Given the description of an element on the screen output the (x, y) to click on. 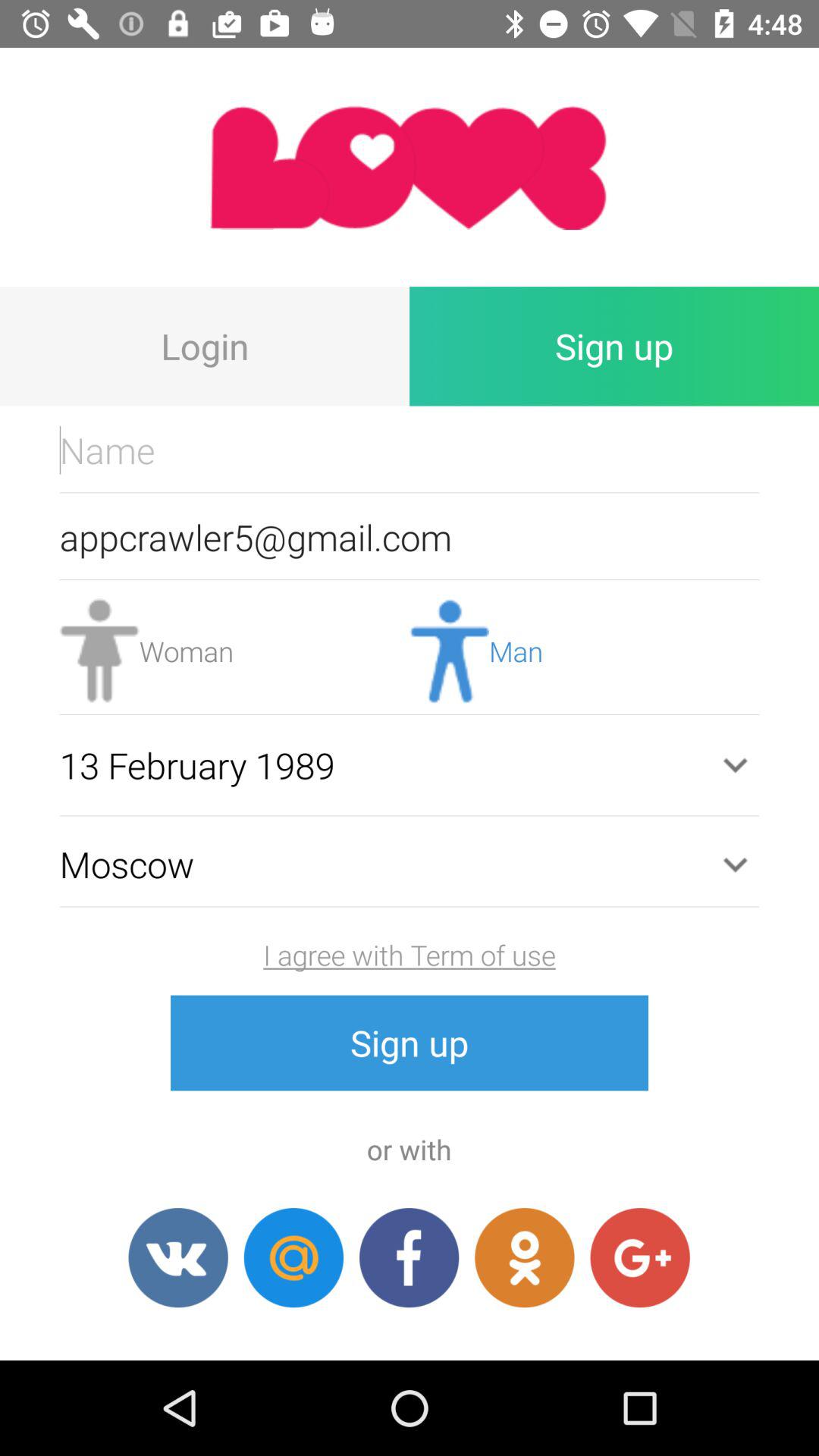
social share button (178, 1257)
